Given the description of an element on the screen output the (x, y) to click on. 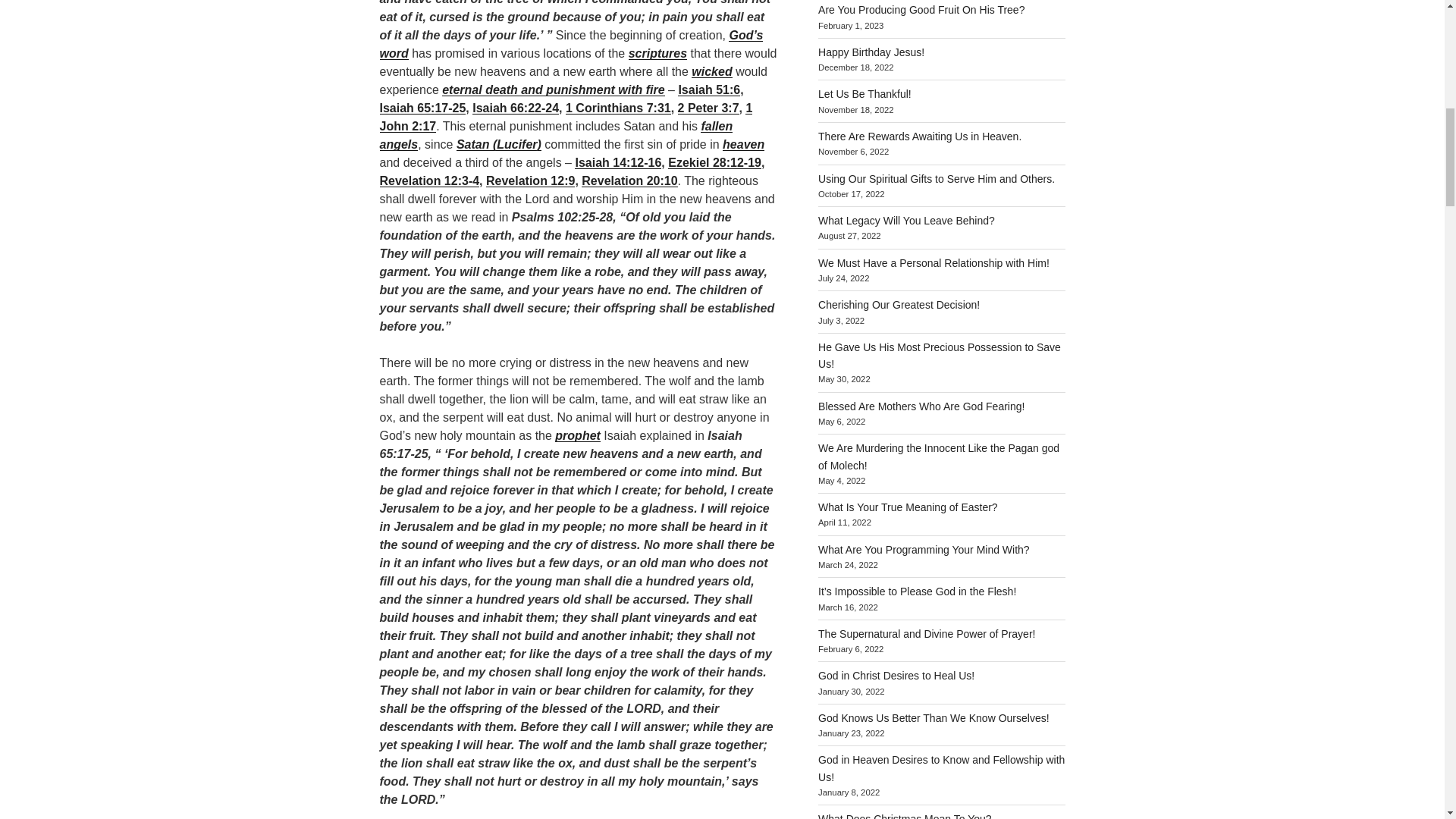
1 John 2:17 (565, 116)
Isaiah 51:6 (708, 89)
scriptures (657, 52)
2 Peter 3:7 (708, 107)
1 Corinthians 7:31 (618, 107)
fallen angels (555, 134)
wicked (711, 71)
Isaiah 65:17-25 (421, 107)
Isaiah 66:22-24 (515, 107)
eternal death and punishment with fire (552, 89)
